Given the description of an element on the screen output the (x, y) to click on. 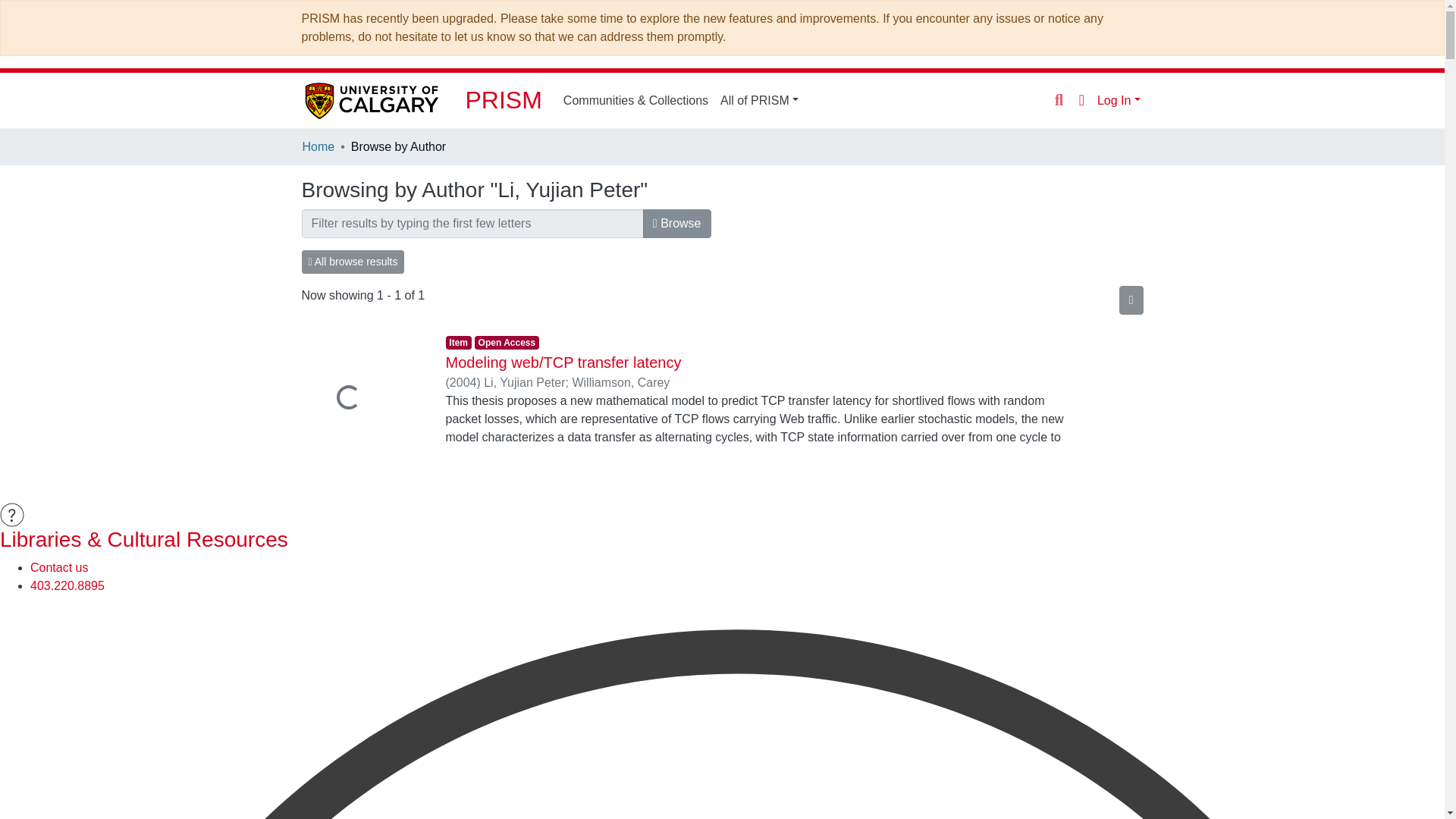
PRISM (503, 99)
Language switch (1081, 99)
Log In (1118, 100)
Browse (677, 223)
Home (317, 147)
Contact us (58, 567)
All of PRISM (759, 100)
All browse results (352, 261)
Search (1058, 100)
Loading... (362, 399)
